Given the description of an element on the screen output the (x, y) to click on. 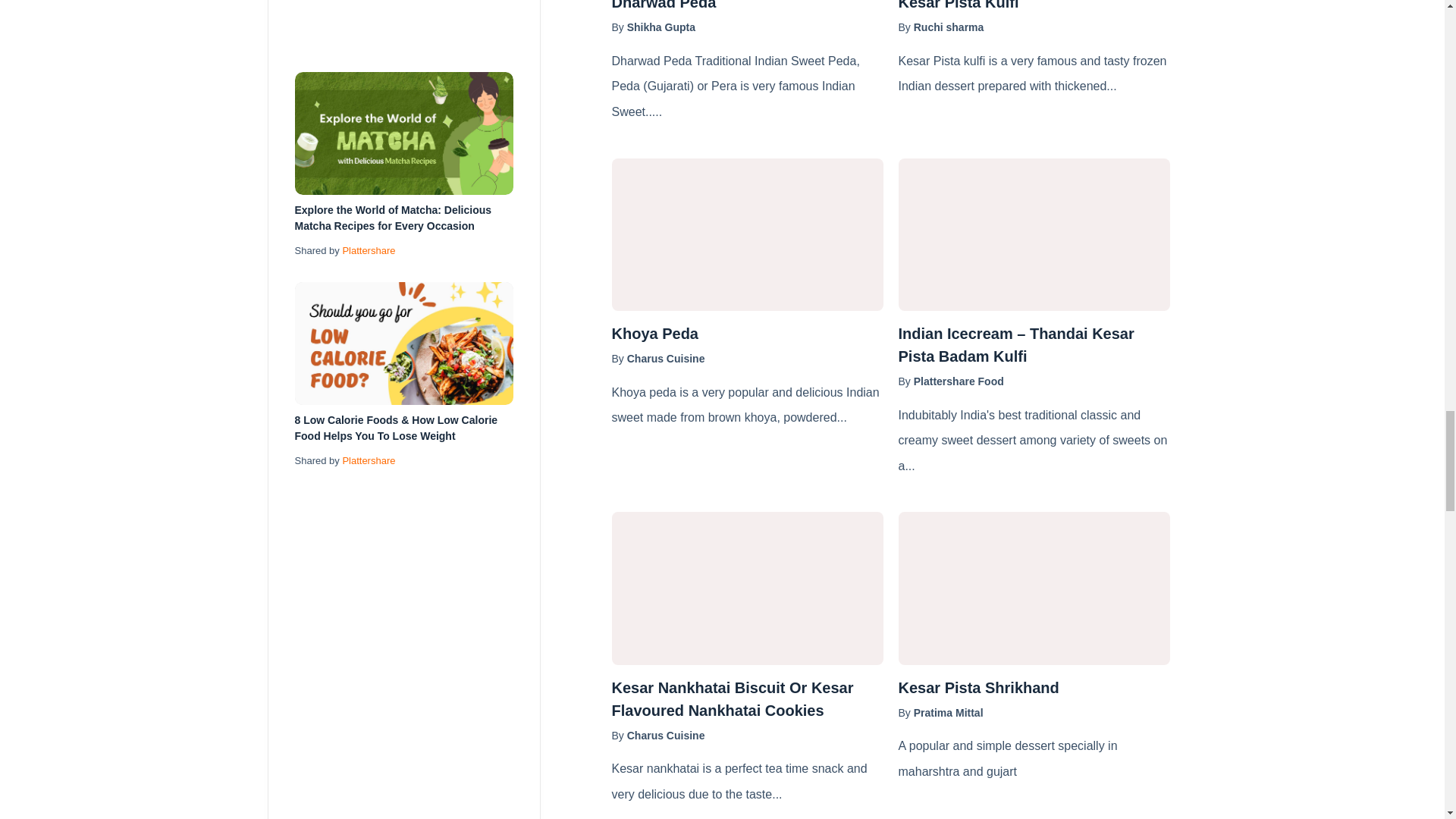
Kesar Pista Kulfi (1033, 6)
Khoya Peda (746, 333)
Khoya Peda (746, 234)
Dharwad Peda (746, 6)
